Given the description of an element on the screen output the (x, y) to click on. 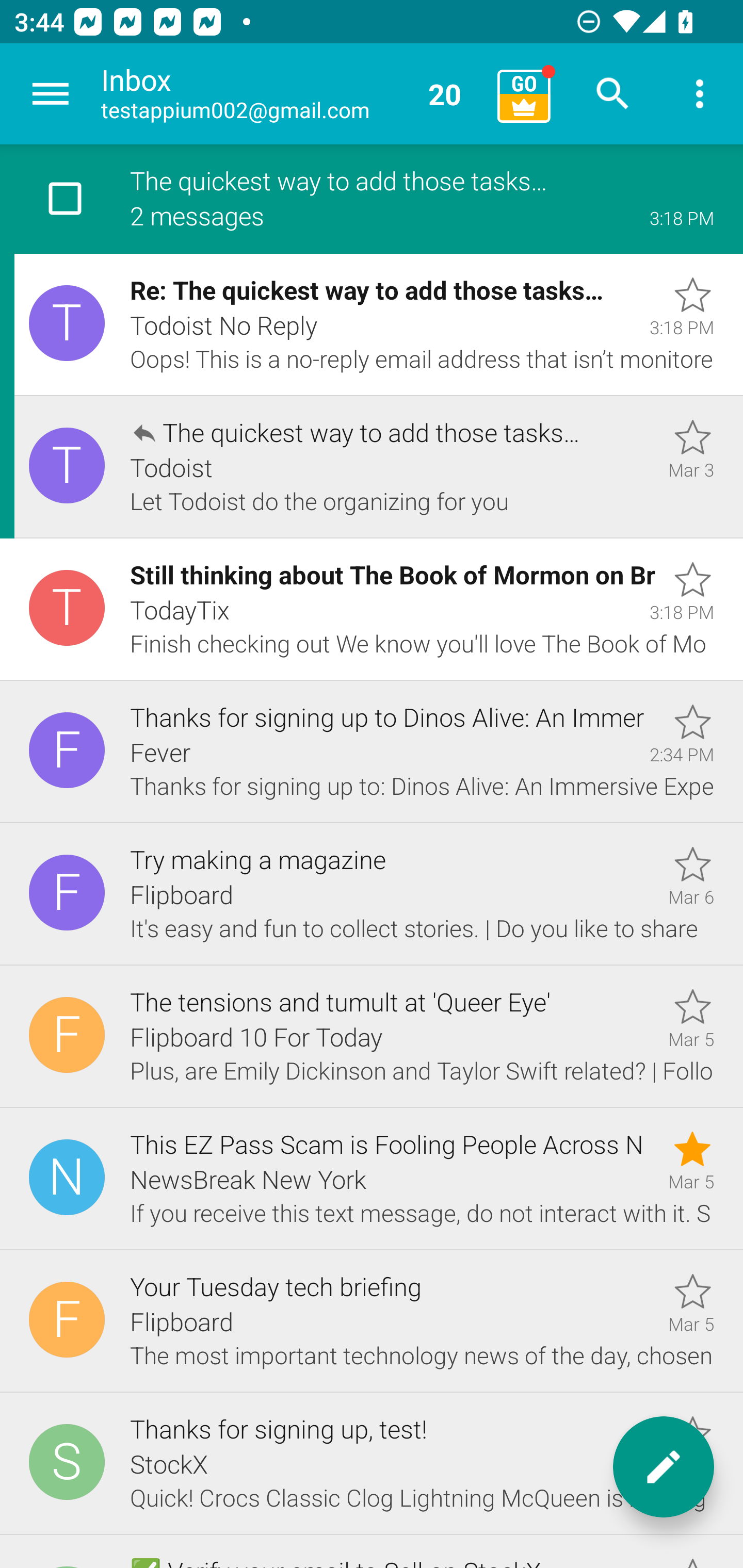
Navigate up (50, 93)
Inbox testappium002@gmail.com 20 (291, 93)
Search (612, 93)
More options (699, 93)
New message (663, 1466)
